Given the description of an element on the screen output the (x, y) to click on. 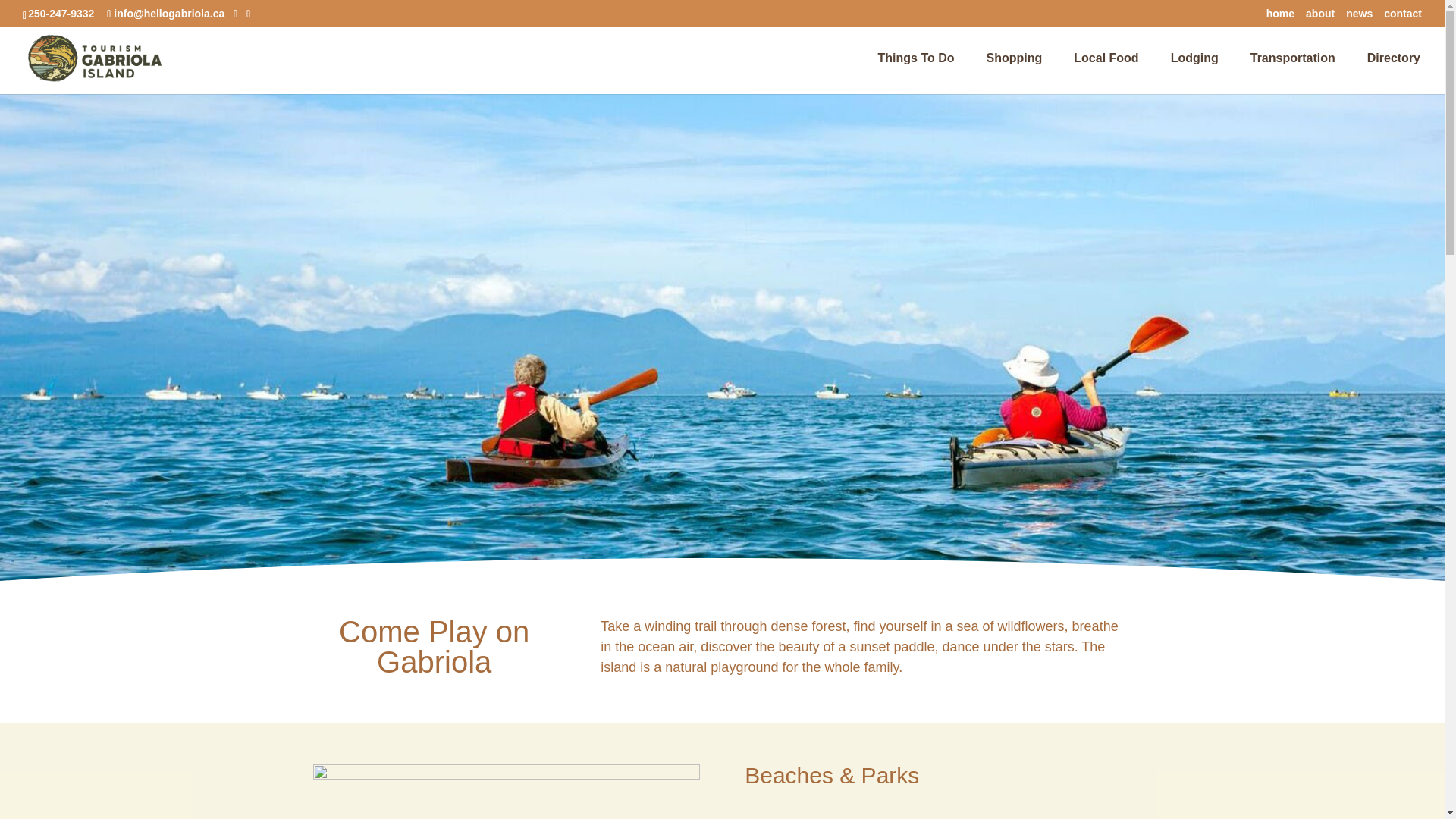
Things To Do (923, 73)
contact (1403, 16)
Transportation (1300, 73)
Local Food (1113, 73)
news (1359, 16)
home (1280, 16)
about (1320, 16)
Directory (1394, 73)
Shopping (1022, 73)
Lodging (1201, 73)
